Given the description of an element on the screen output the (x, y) to click on. 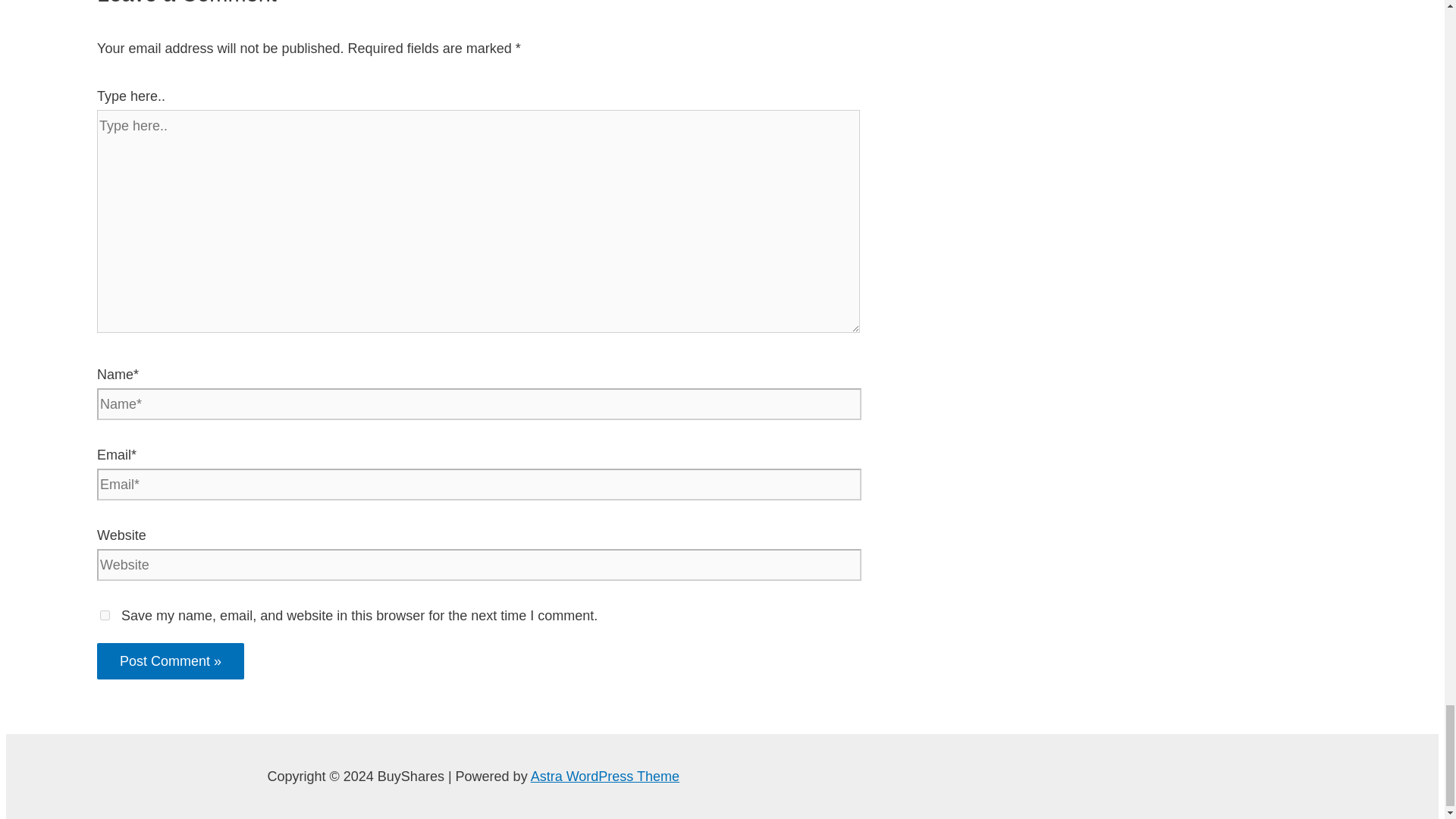
yes (105, 614)
